Given the description of an element on the screen output the (x, y) to click on. 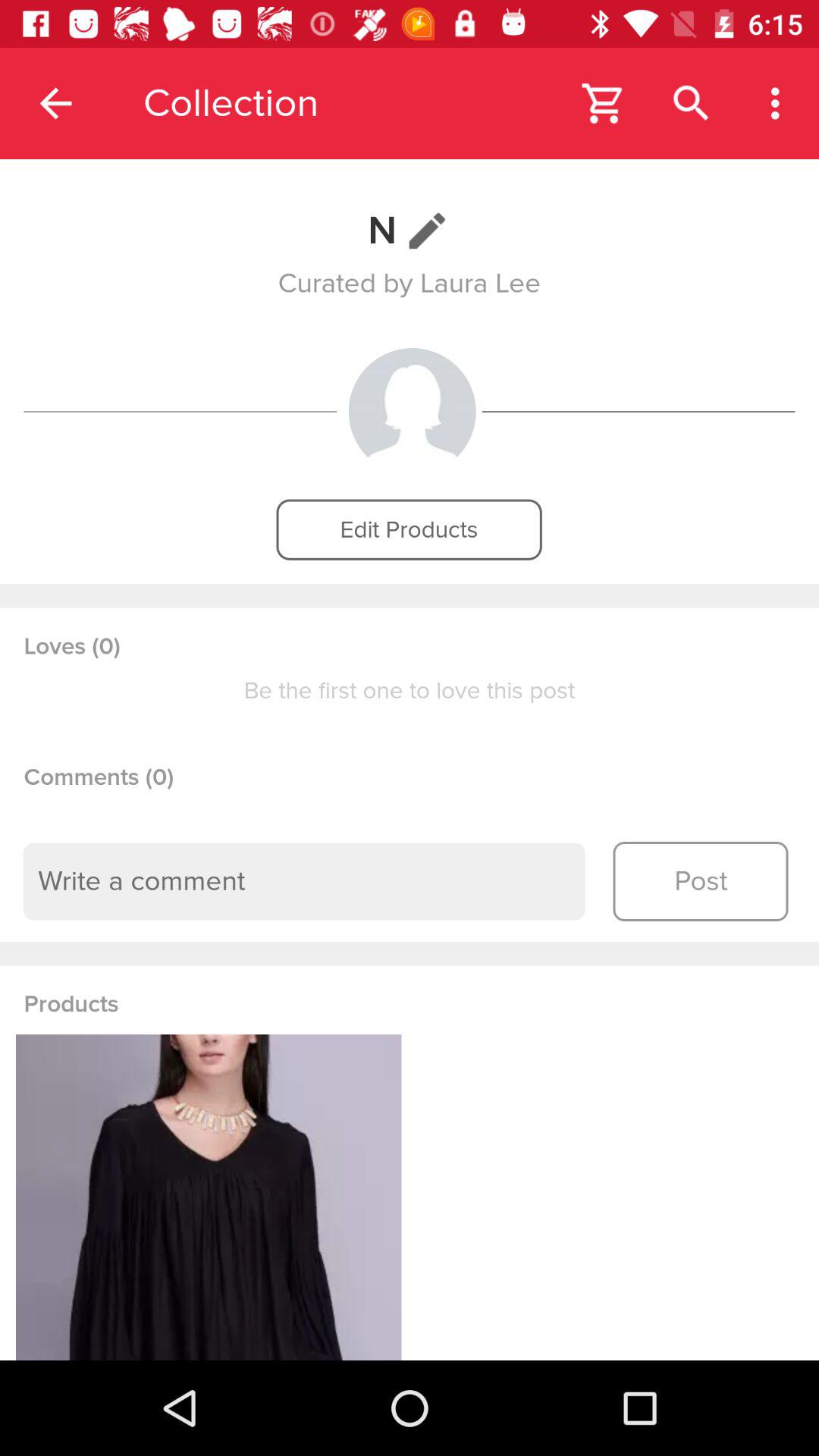
choose item to the right of the collection app (603, 103)
